Given the description of an element on the screen output the (x, y) to click on. 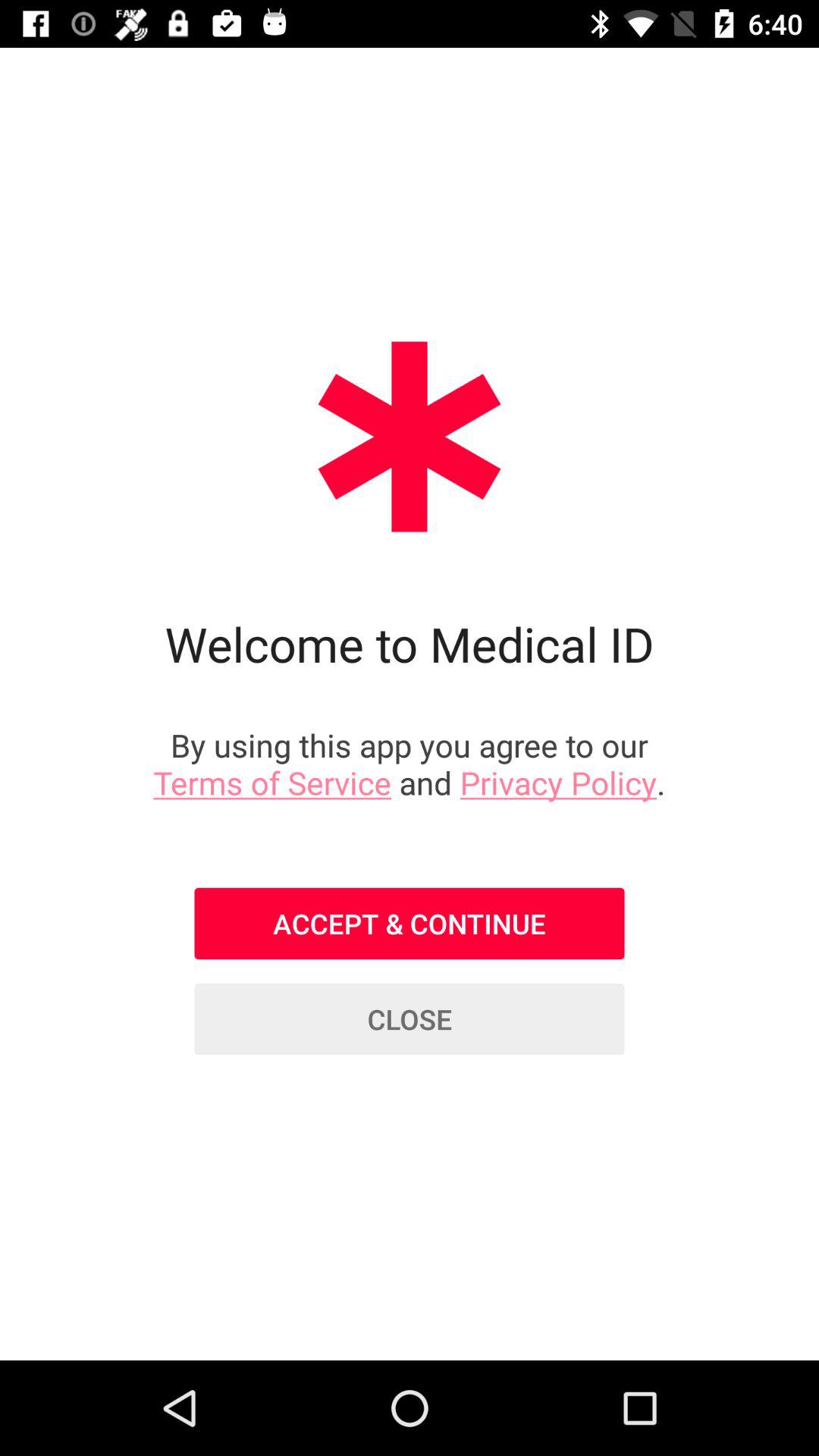
click the accept & continue item (409, 923)
